Given the description of an element on the screen output the (x, y) to click on. 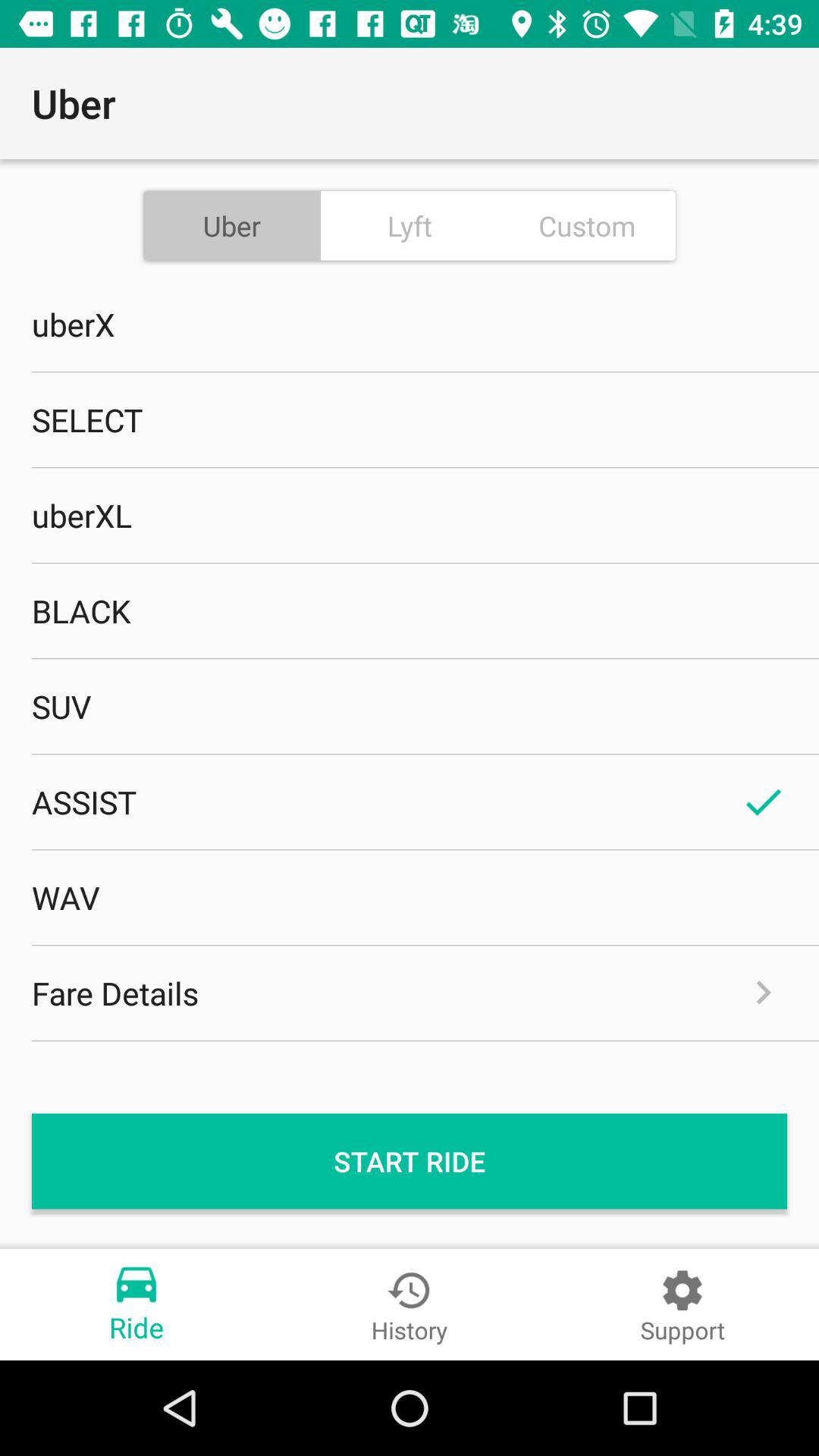
click custom (586, 225)
